Given the description of an element on the screen output the (x, y) to click on. 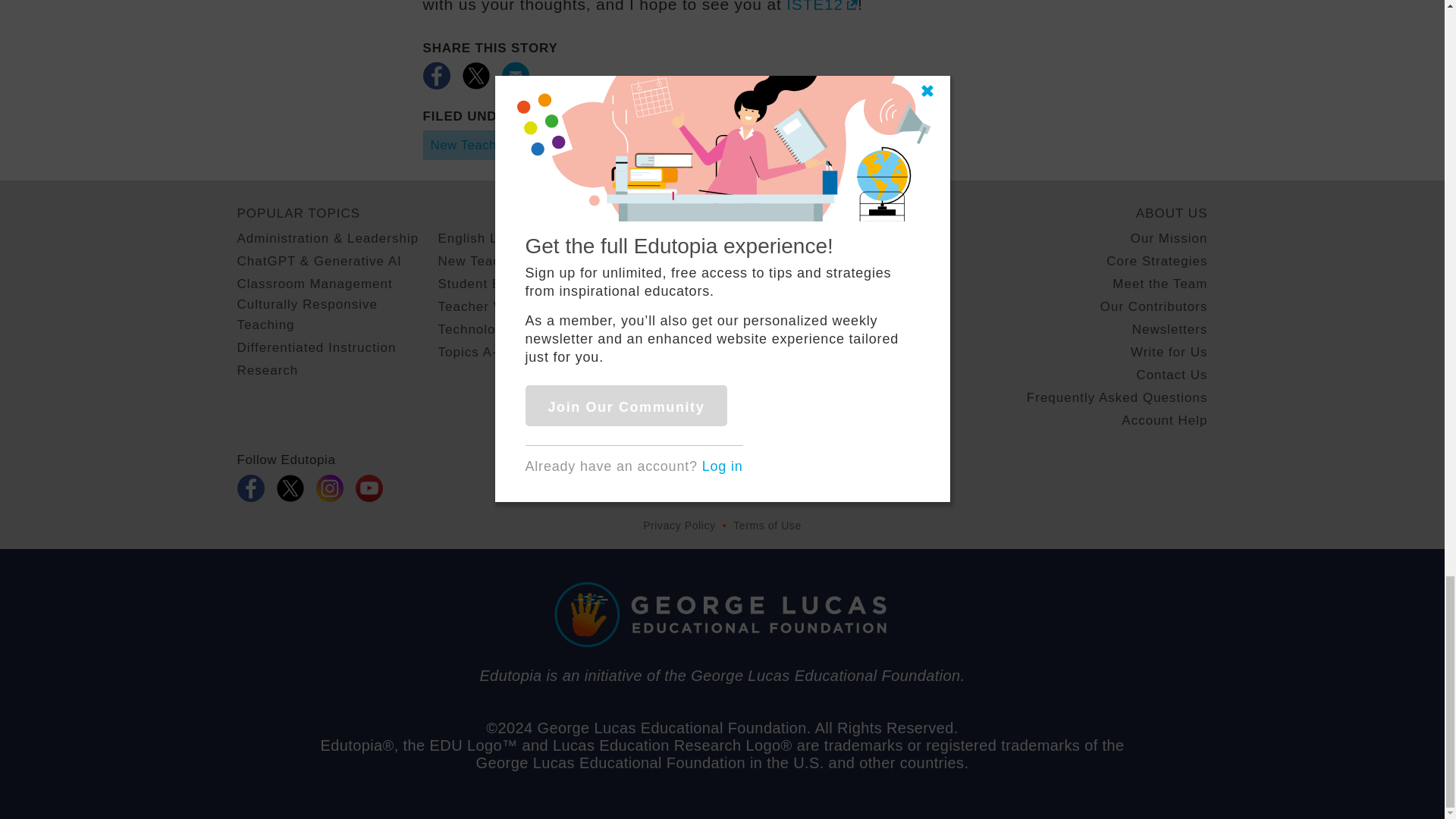
Classroom Management (313, 283)
Culturally Responsive Teaching (336, 314)
ISTE12 (821, 6)
Differentiated Instruction (315, 347)
New Teachers (472, 144)
Instructional Coaching (603, 144)
Professional Learning (757, 144)
